Given the description of an element on the screen output the (x, y) to click on. 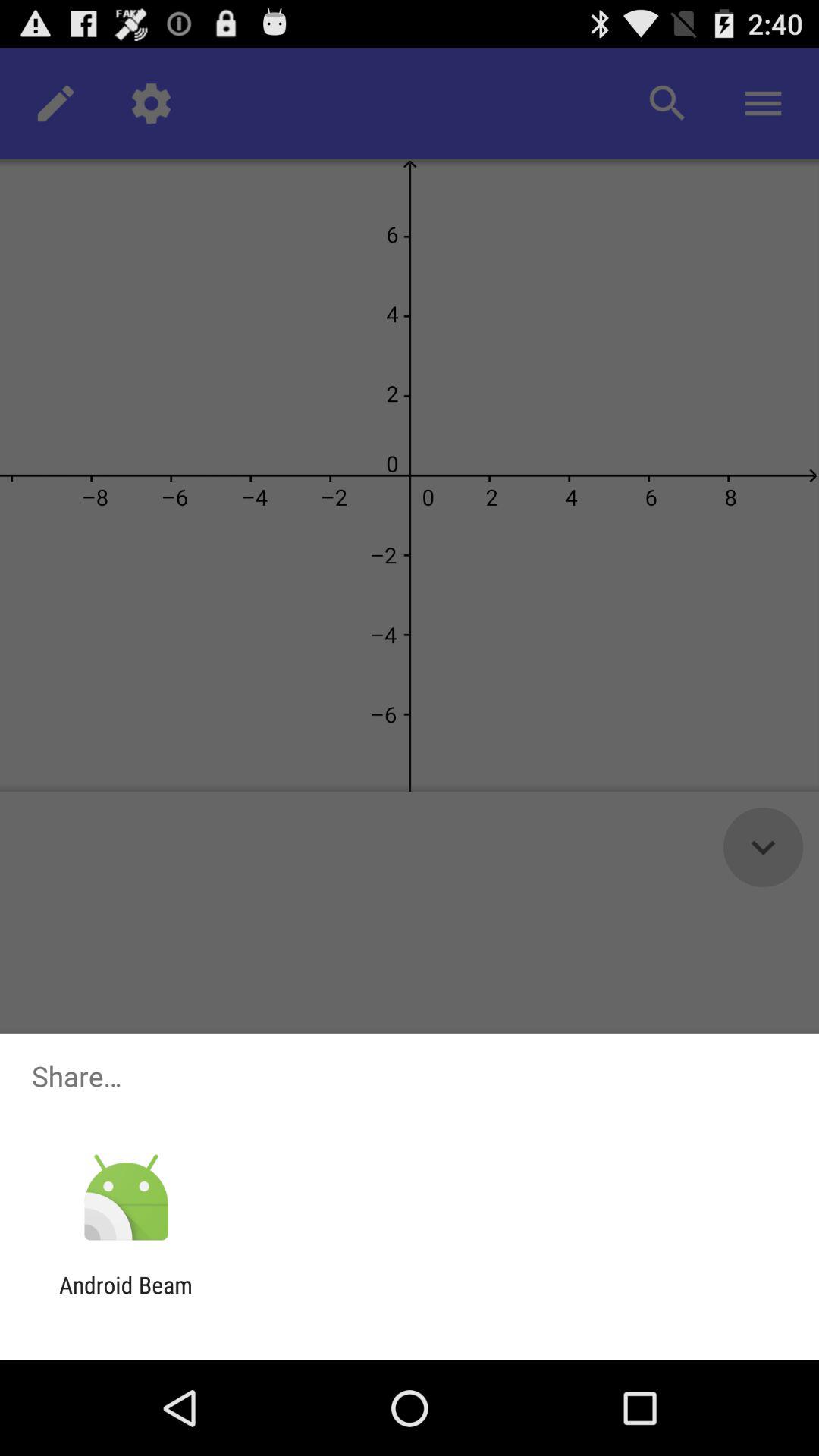
press the item above the android beam item (126, 1198)
